Given the description of an element on the screen output the (x, y) to click on. 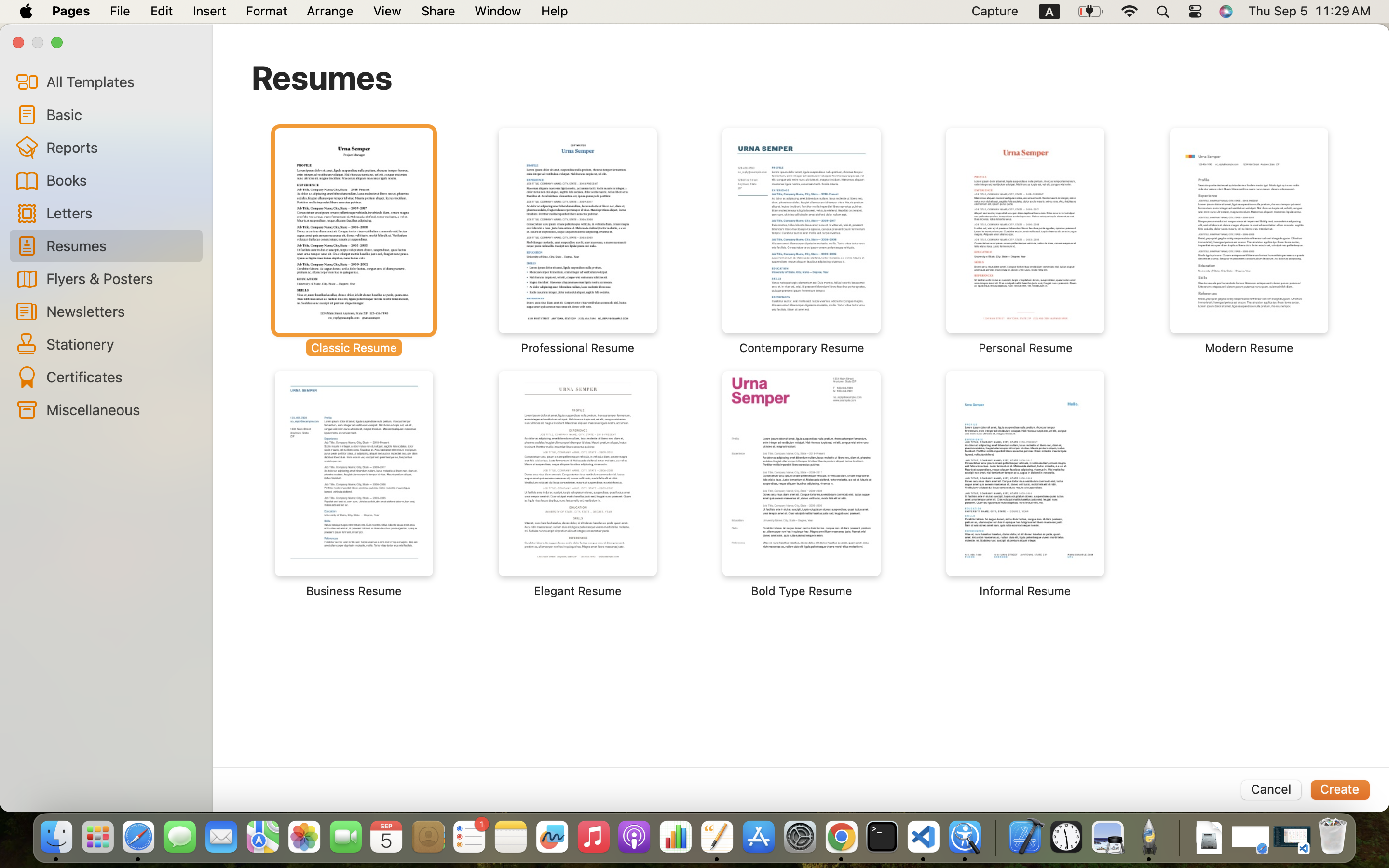
Letters Element type: AXStaticText (120, 212)
